Given the description of an element on the screen output the (x, y) to click on. 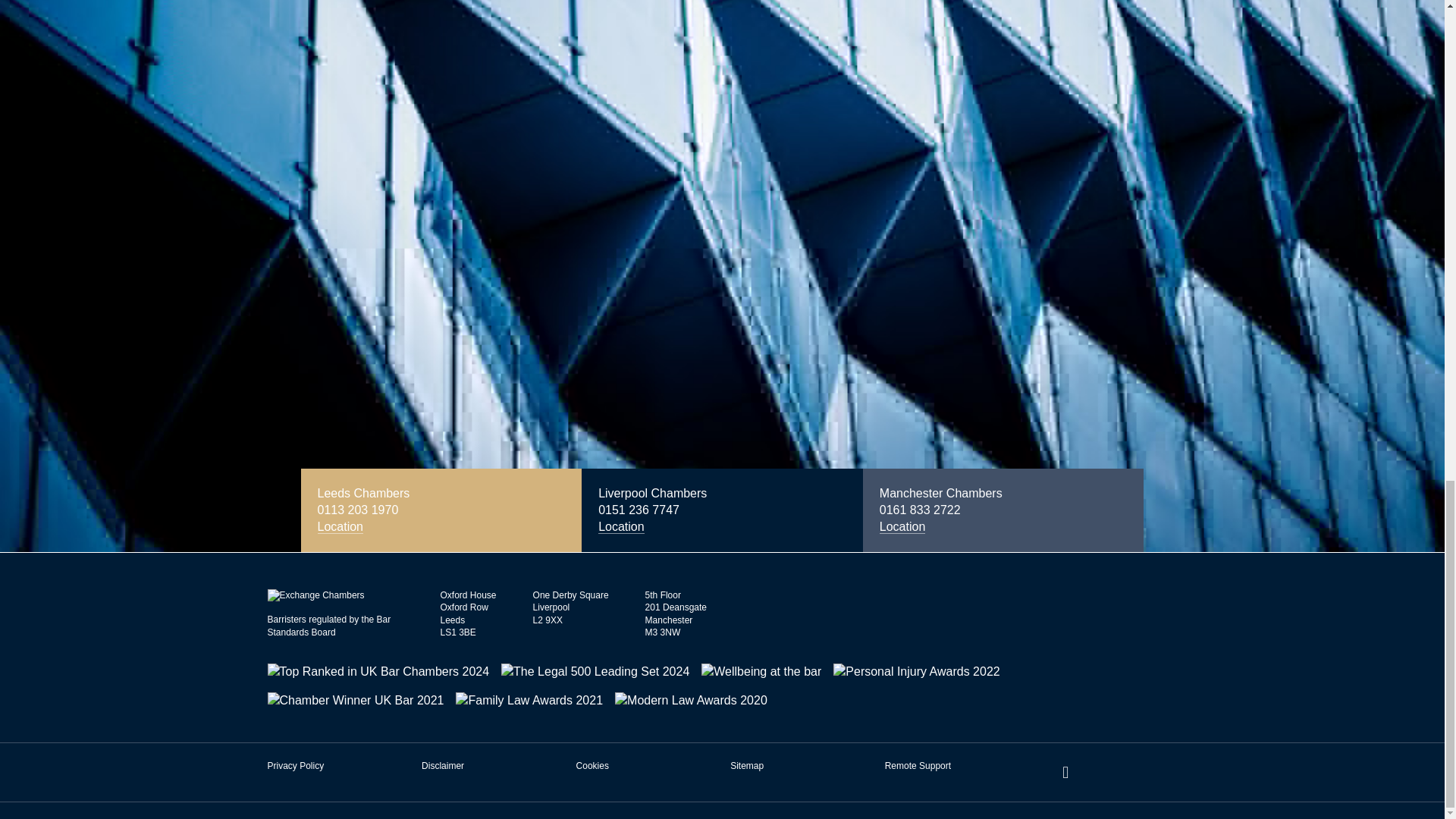
Privacy Policy (294, 765)
Disclaimer (443, 765)
Sitemap (746, 765)
Cookies (592, 765)
Remote Support (917, 765)
